Given the description of an element on the screen output the (x, y) to click on. 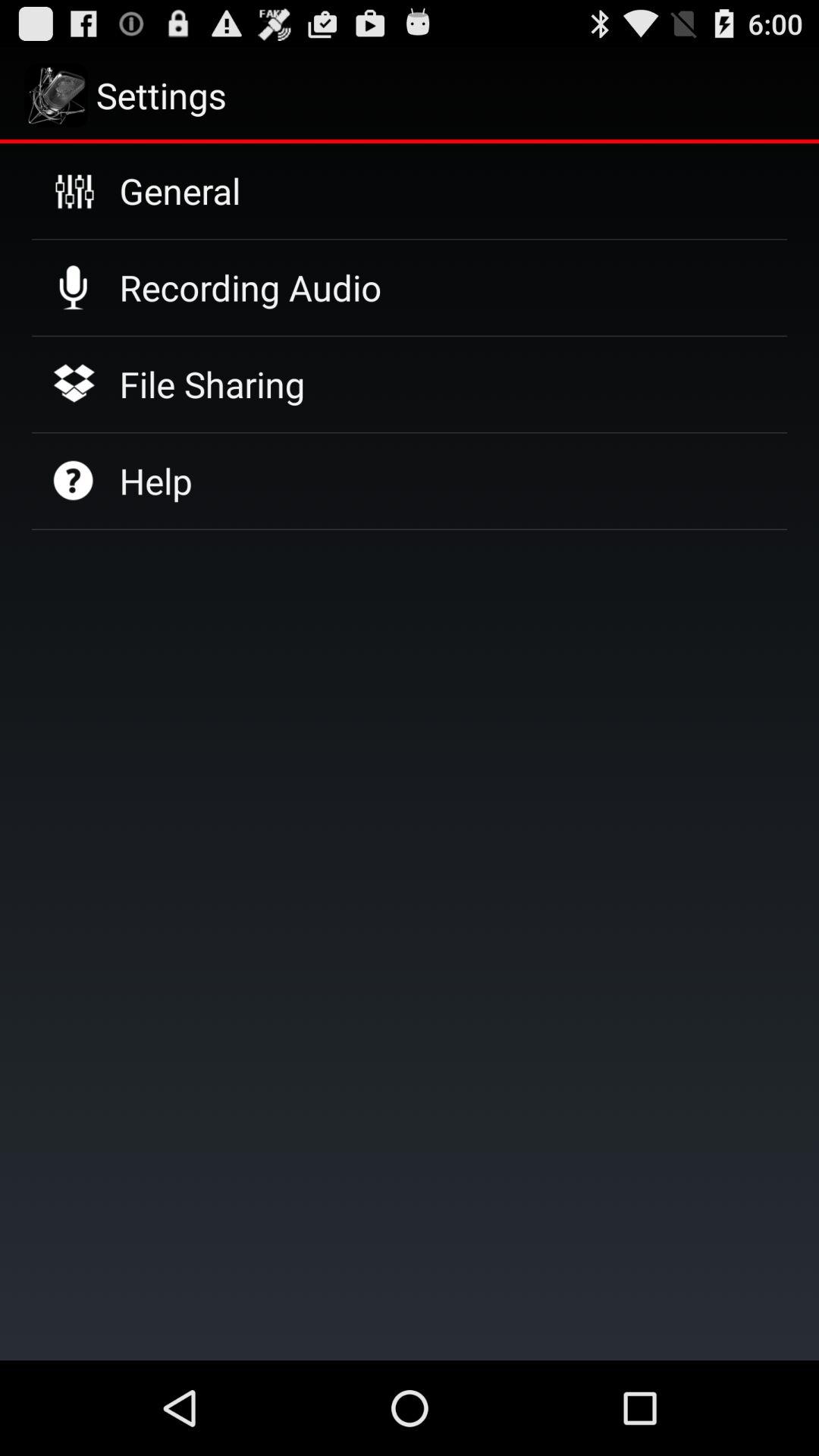
swipe until recording audio icon (250, 287)
